Given the description of an element on the screen output the (x, y) to click on. 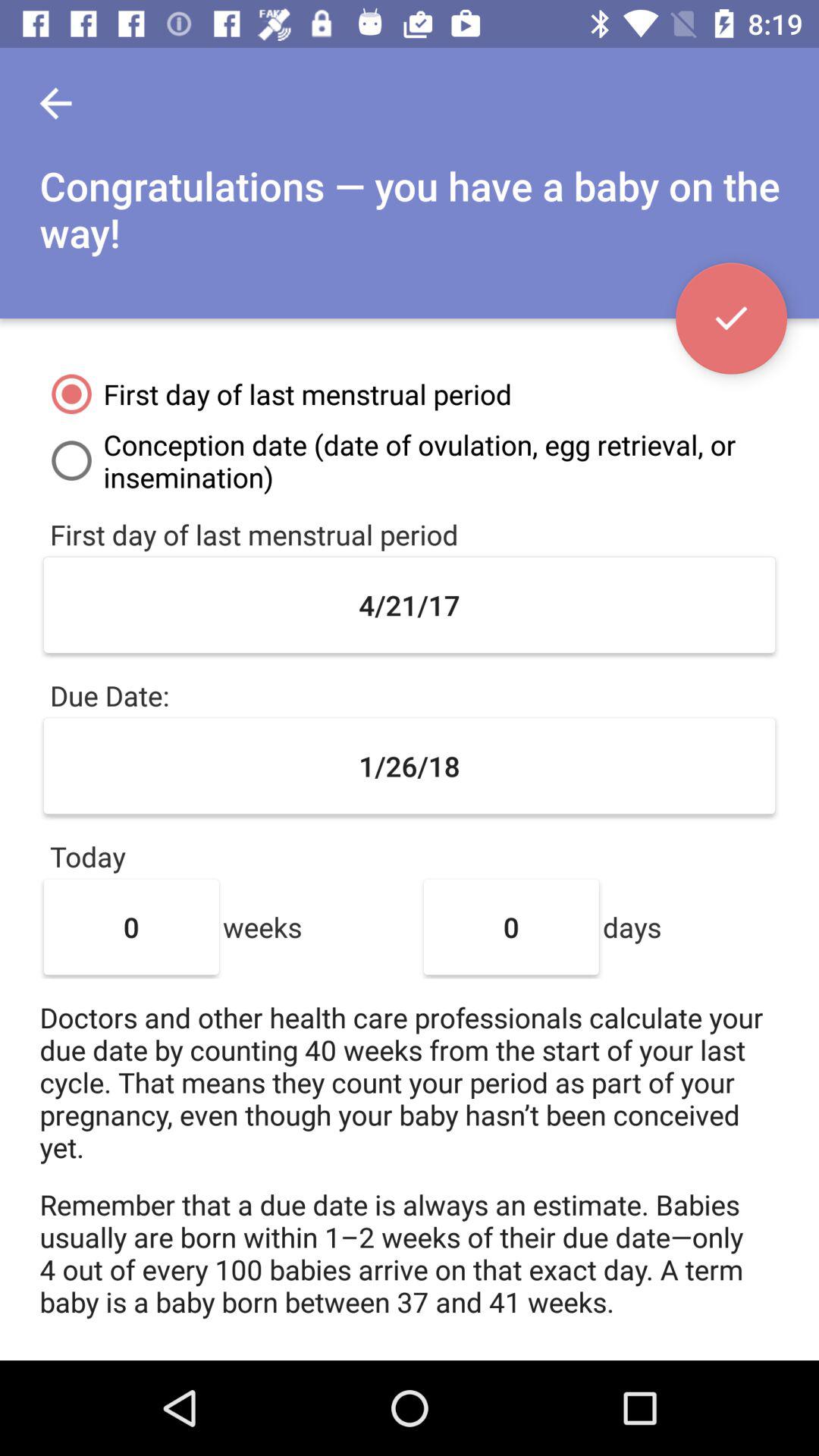
choose the 4/21/17 item (409, 604)
